Given the description of an element on the screen output the (x, y) to click on. 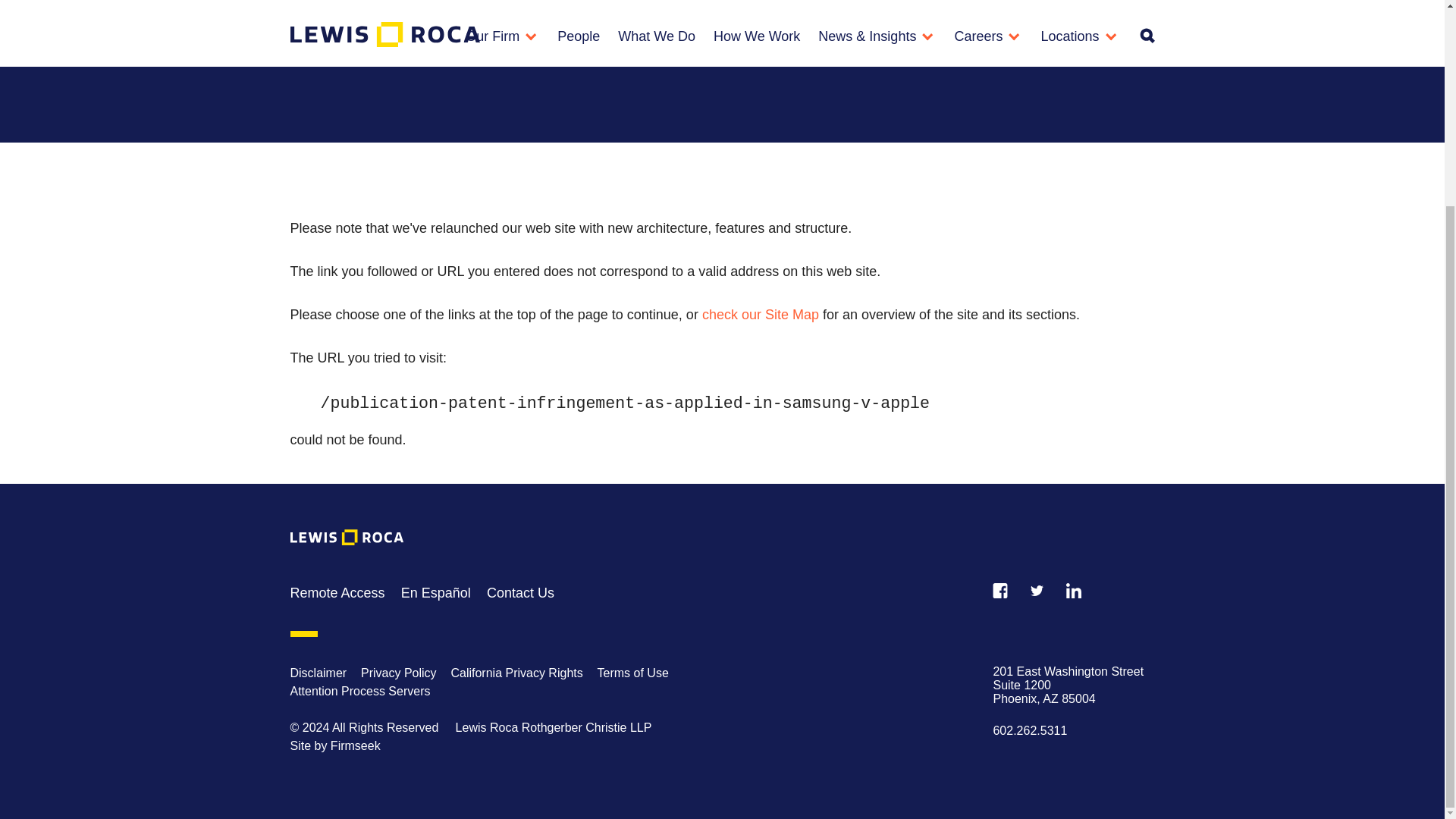
Linkedin Icon (1073, 590)
Facebook Icon (999, 590)
Twitter Icon (1036, 590)
